Given the description of an element on the screen output the (x, y) to click on. 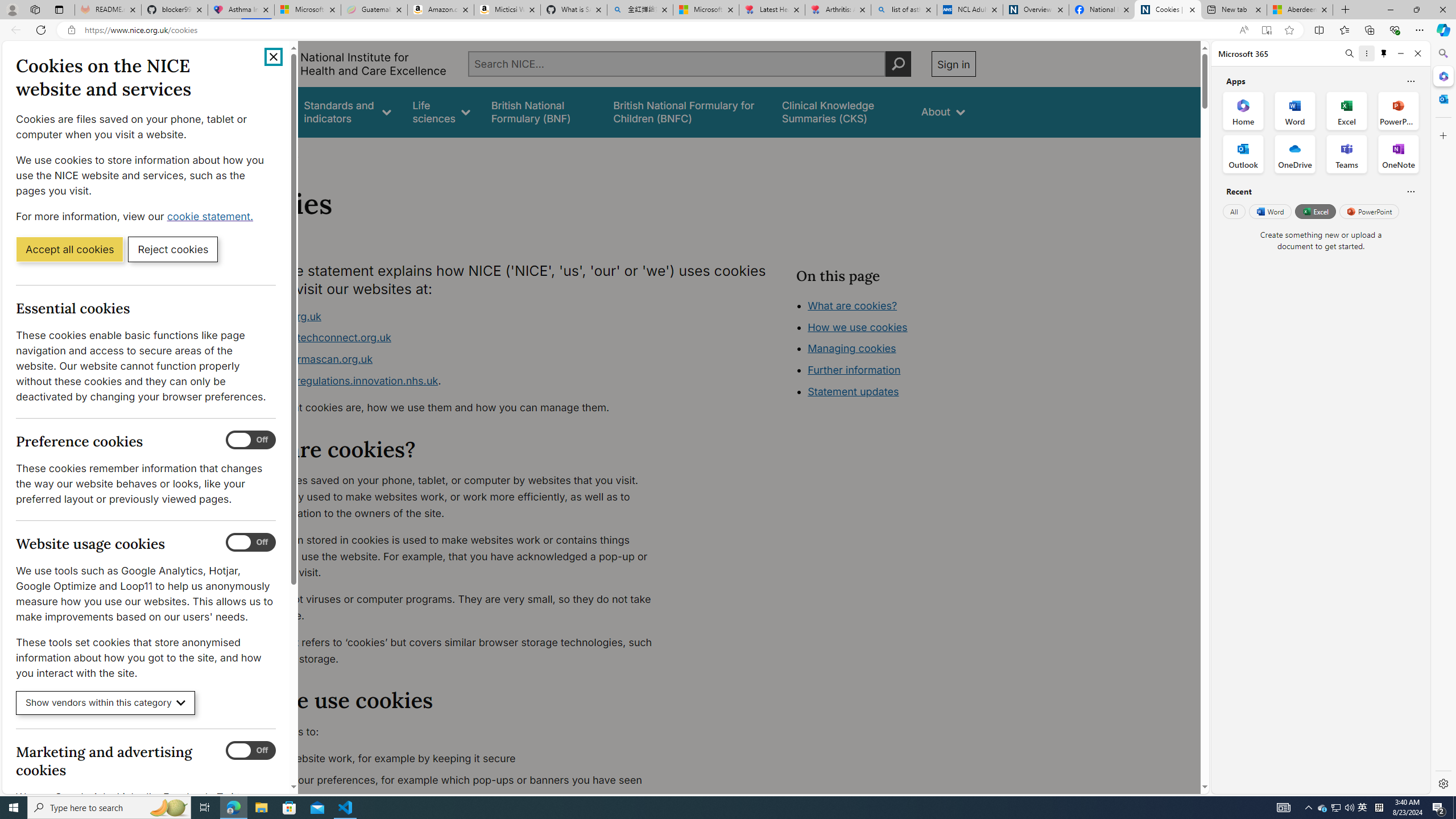
Cookies | About | NICE (1167, 9)
Home Office App (1243, 110)
Word Office App (1295, 110)
Further information (854, 369)
Excel Office App (1346, 110)
